Given the description of an element on the screen output the (x, y) to click on. 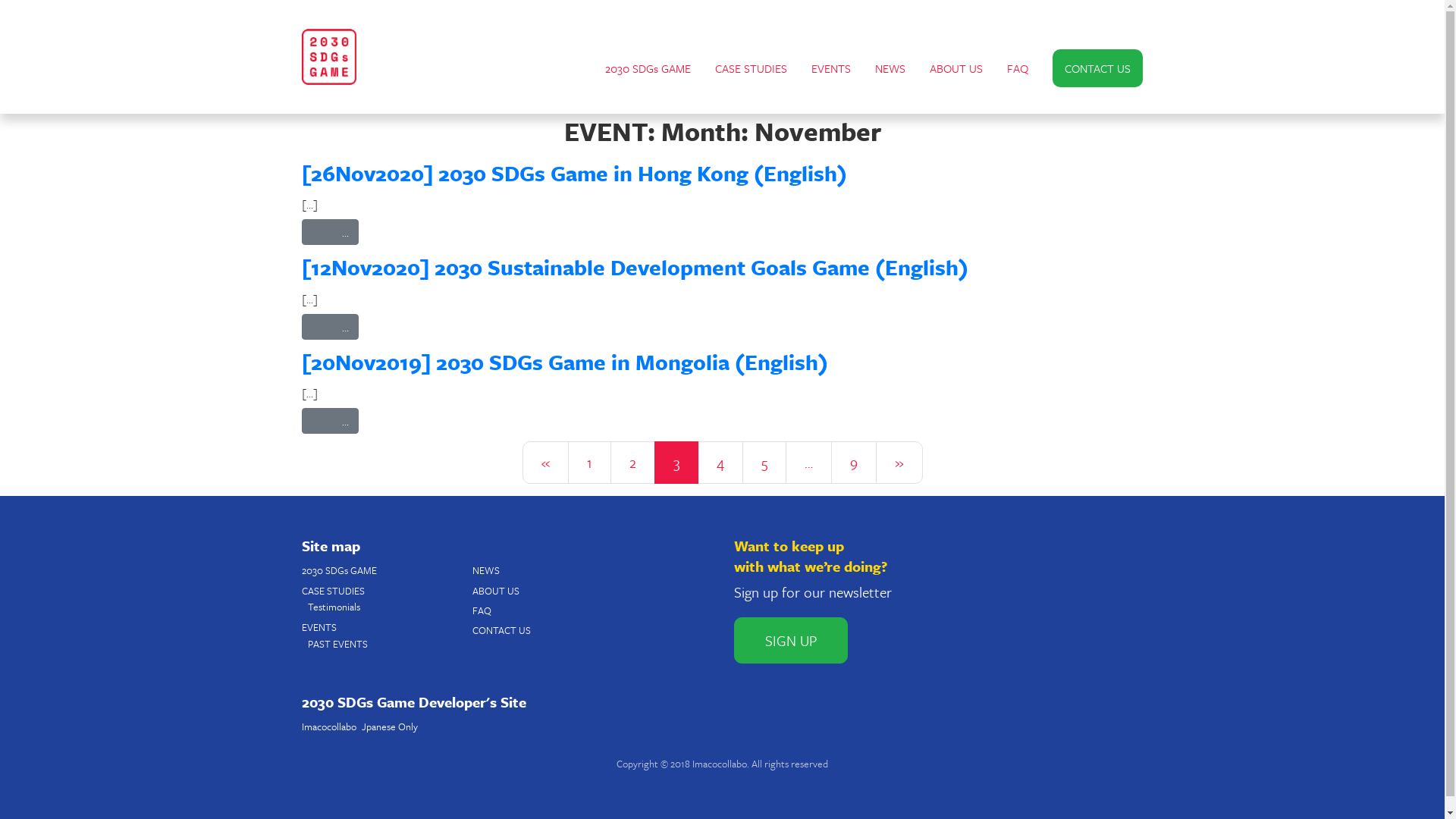
FAQ Element type: text (1017, 67)
[26Nov2020] 2030 SDGs Game in Hong Kong (English) Element type: text (574, 172)
4 Element type: text (720, 462)
ABOUT US Element type: text (955, 67)
FAQ Element type: text (480, 610)
CASE STUDIES Element type: text (750, 67)
PAST EVENTS Element type: text (337, 643)
CONTACT US Element type: text (500, 629)
1 Element type: text (588, 462)
9 Element type: text (853, 462)
EVENTS Element type: text (830, 67)
SIGN UP Element type: text (790, 640)
NEWS Element type: text (890, 67)
NEWS Element type: text (484, 569)
2030 SDGs GAME Element type: text (338, 569)
CASE STUDIES Element type: text (332, 590)
ABOUT US Element type: text (494, 590)
[20Nov2019] 2030 SDGs Game in Mongolia (English) Element type: text (564, 361)
2030sdgsgame Element type: hover (329, 56)
EVENTS Element type: text (318, 626)
2030 SDGs GAME Element type: text (647, 67)
2 Element type: text (631, 462)
5 Element type: text (763, 462)
CONTACT US Element type: text (1097, 68)
Testimonials Element type: text (333, 606)
